Given the description of an element on the screen output the (x, y) to click on. 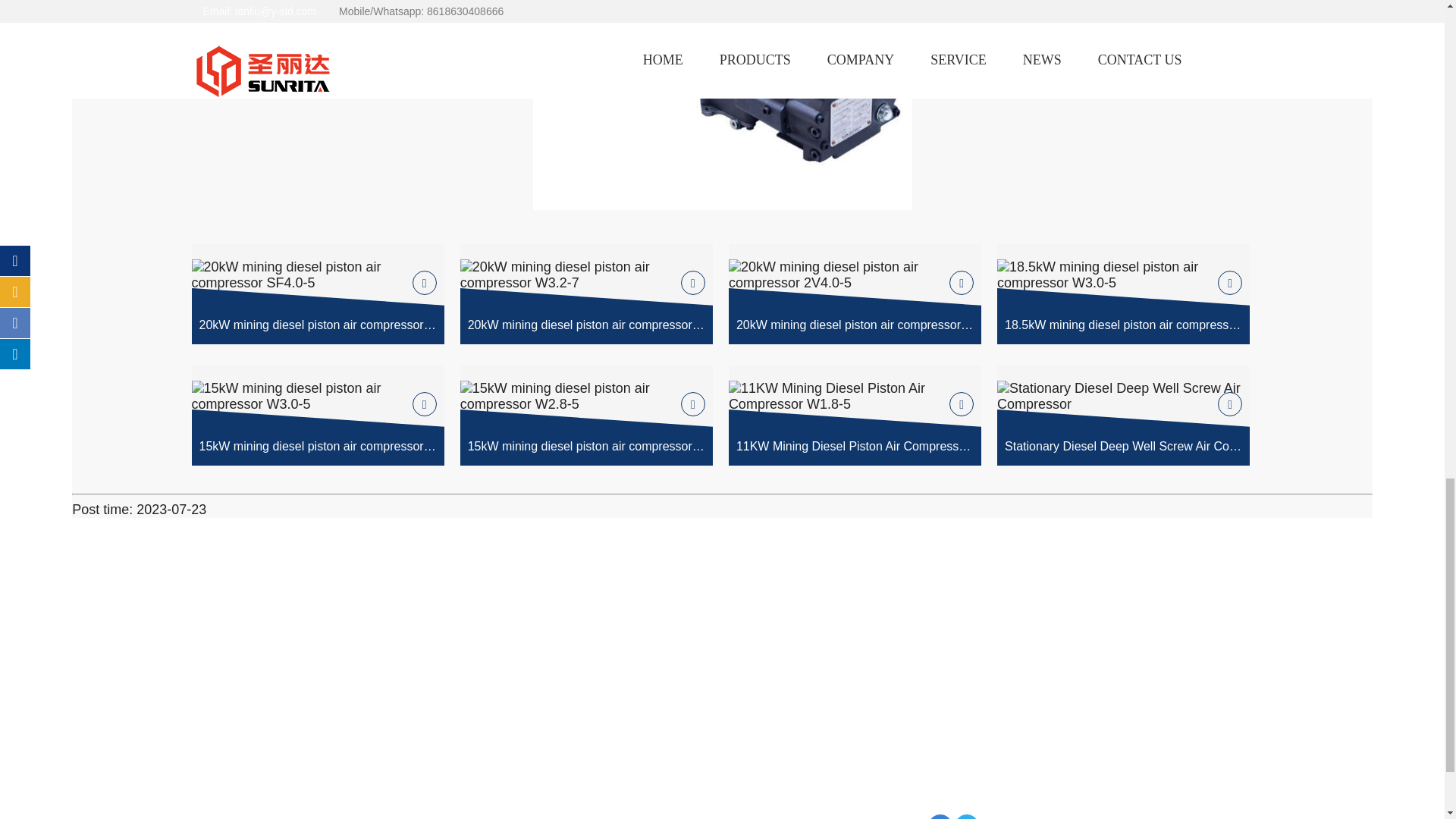
20kW mining diesel piston air compressor SF4.0-5 (317, 293)
20kW mining diesel piston air compressor 2V4.0-5 (855, 293)
20kW mining diesel piston air compressor W3.2-7 (586, 293)
